Given the description of an element on the screen output the (x, y) to click on. 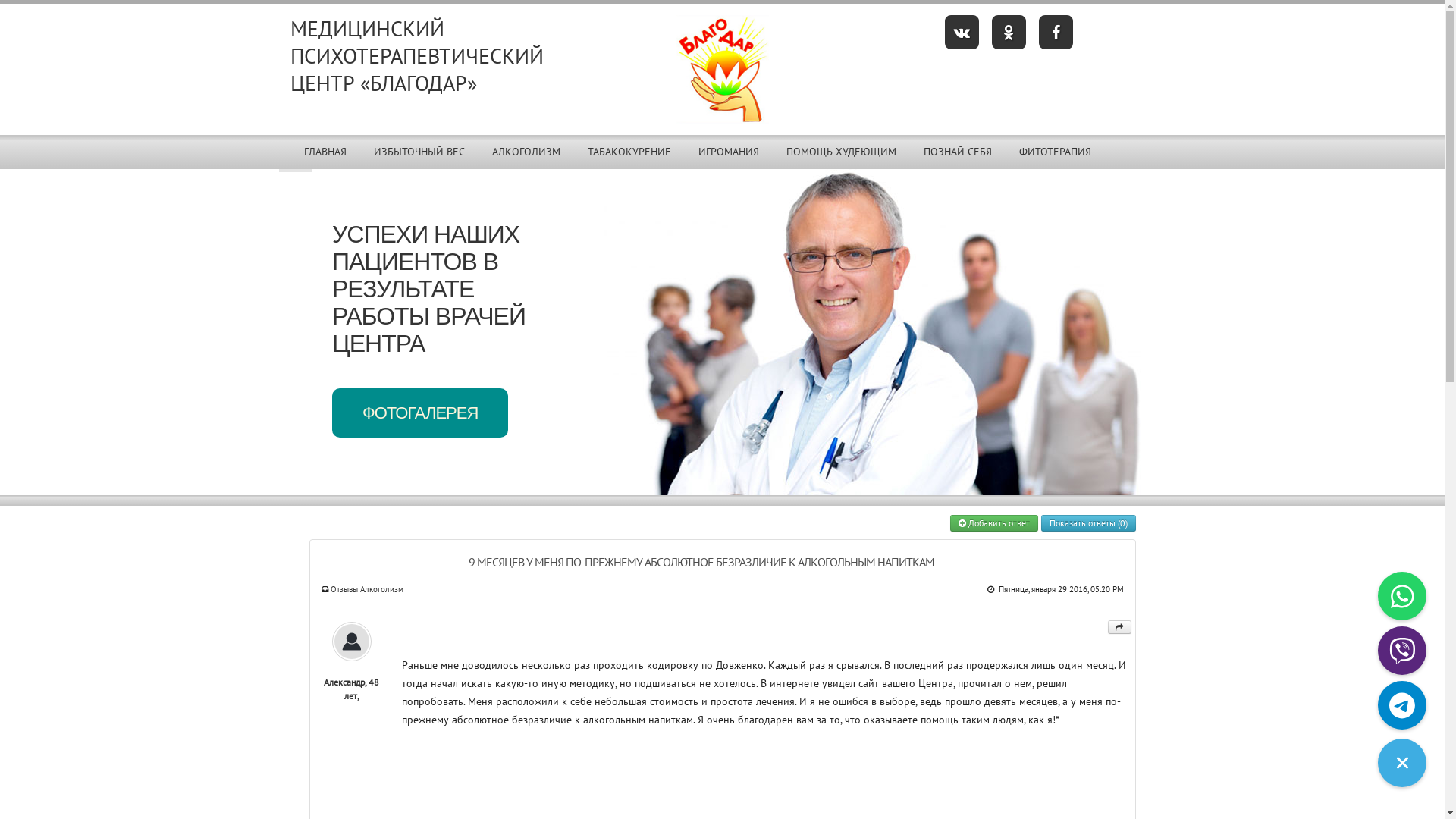
   Element type: text (1118, 626)
